Given the description of an element on the screen output the (x, y) to click on. 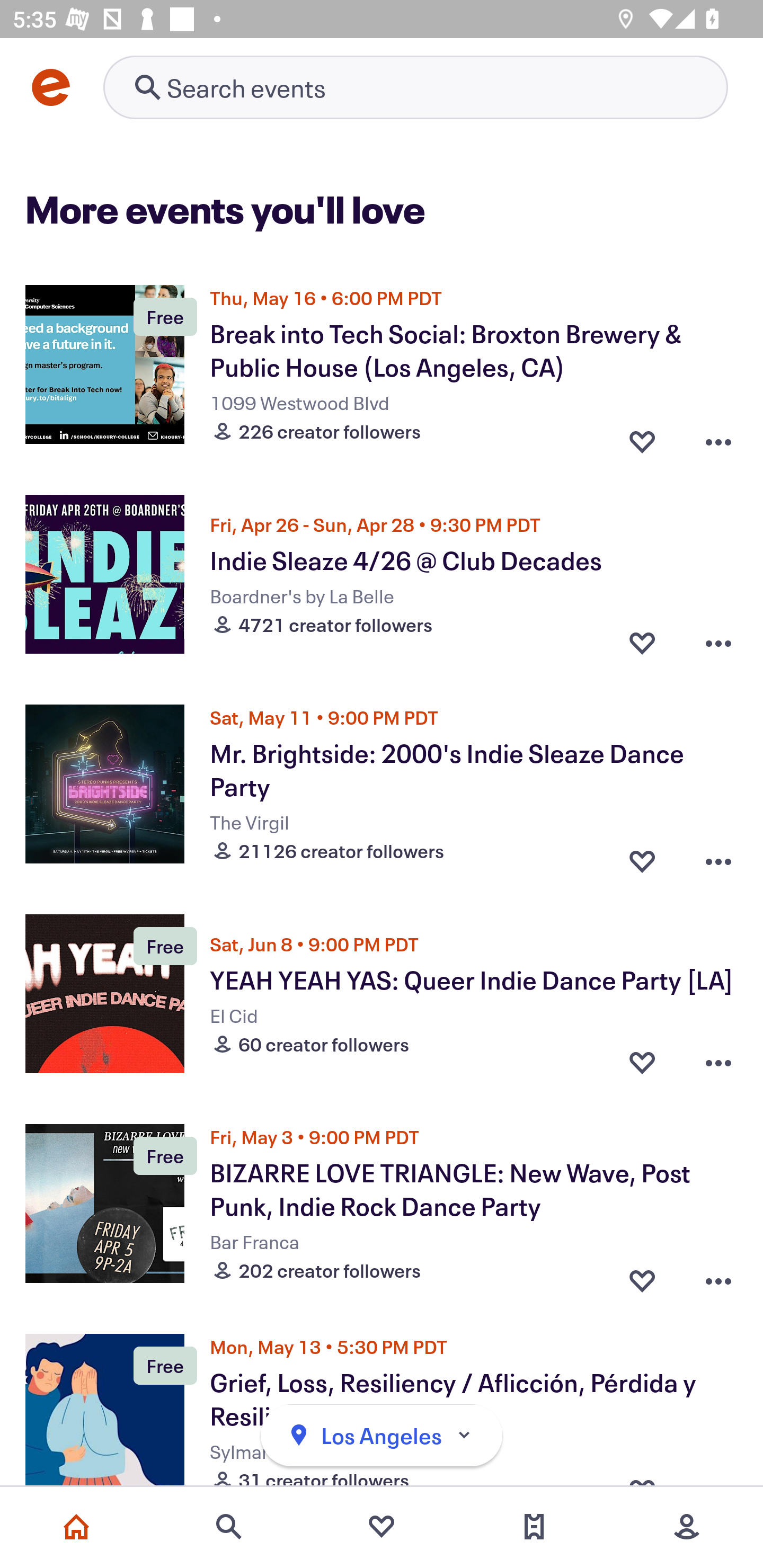
Retry's image Search events (415, 86)
Favorite button (642, 436)
Overflow menu button (718, 436)
Favorite button (642, 641)
Overflow menu button (718, 641)
Favorite button (642, 856)
Overflow menu button (718, 856)
Favorite button (642, 1062)
Overflow menu button (718, 1062)
Favorite button (642, 1275)
Overflow menu button (718, 1275)
Los Angeles (381, 1435)
Home (76, 1526)
Search events (228, 1526)
Favorites (381, 1526)
Tickets (533, 1526)
More (686, 1526)
